Given the description of an element on the screen output the (x, y) to click on. 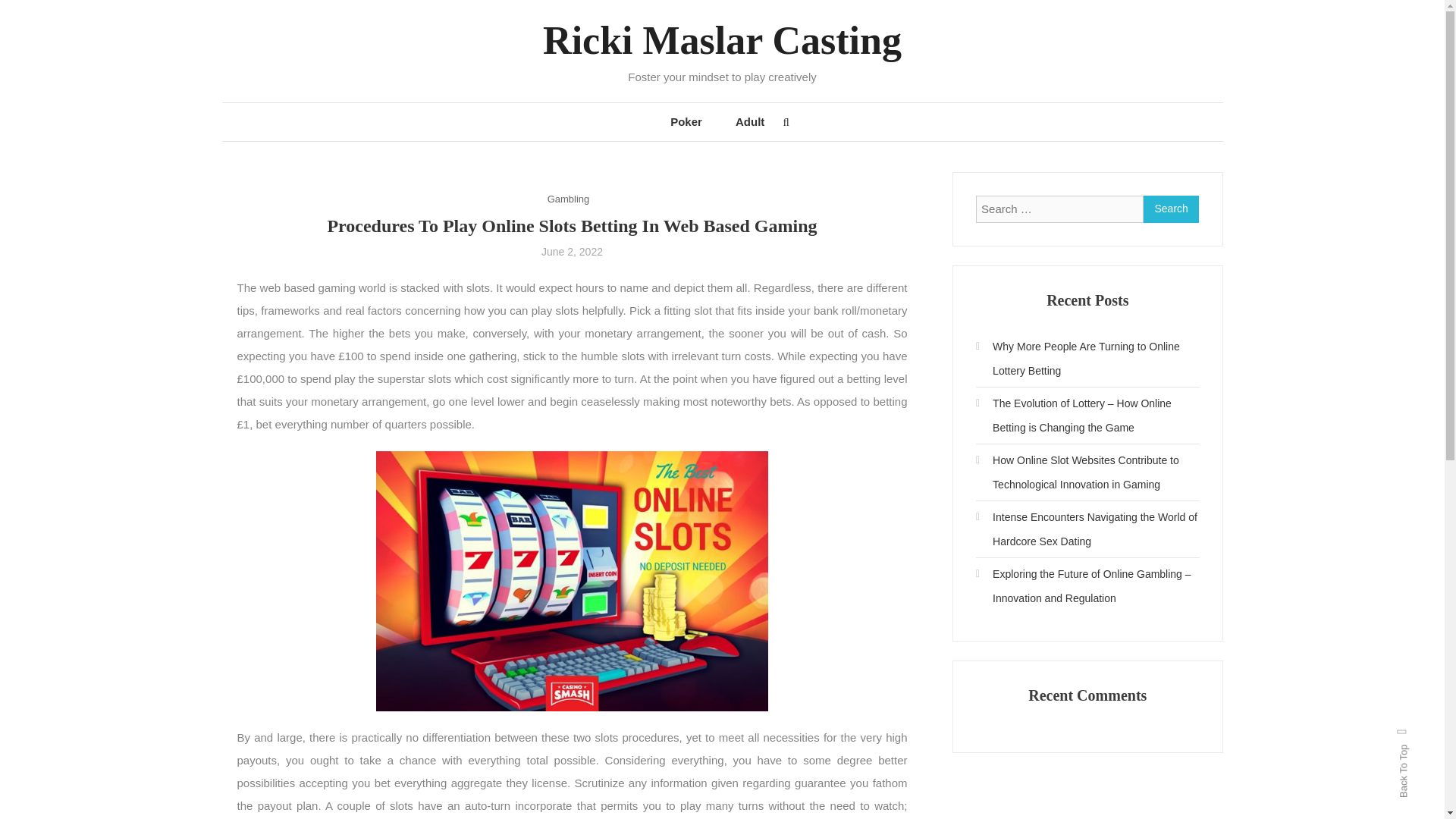
Adult (749, 121)
June 2, 2022 (571, 251)
Poker (686, 121)
Gambling (568, 199)
Search (1170, 208)
Search (768, 432)
Why More People Are Turning to Online Lottery Betting (1086, 358)
Search (1170, 208)
